Given the description of an element on the screen output the (x, y) to click on. 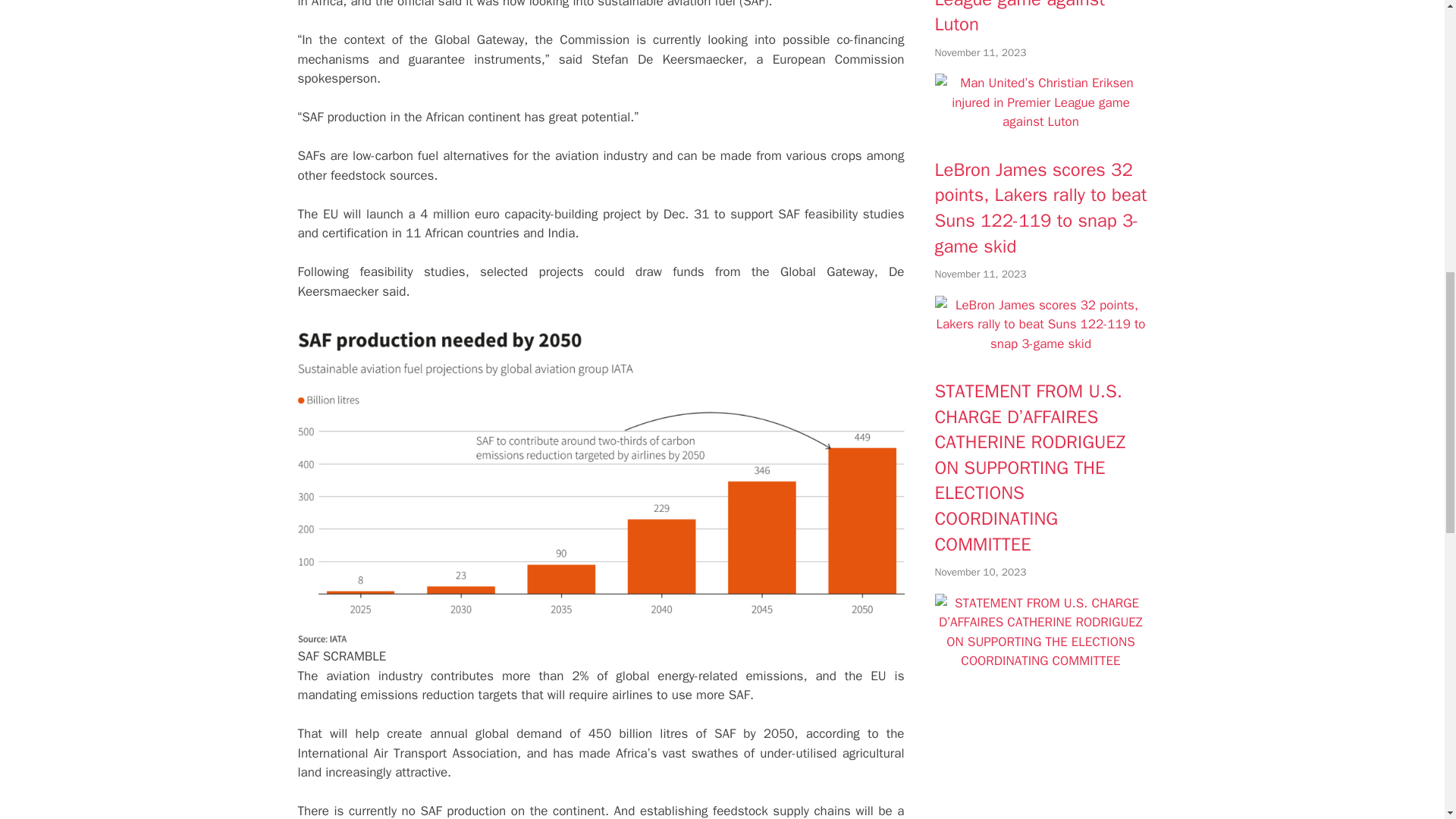
November 11, 2023 (980, 51)
4:58 pm (980, 571)
November 10, 2023 (980, 571)
6:10 pm (980, 51)
November 11, 2023 (980, 273)
6:06 pm (980, 273)
